Given the description of an element on the screen output the (x, y) to click on. 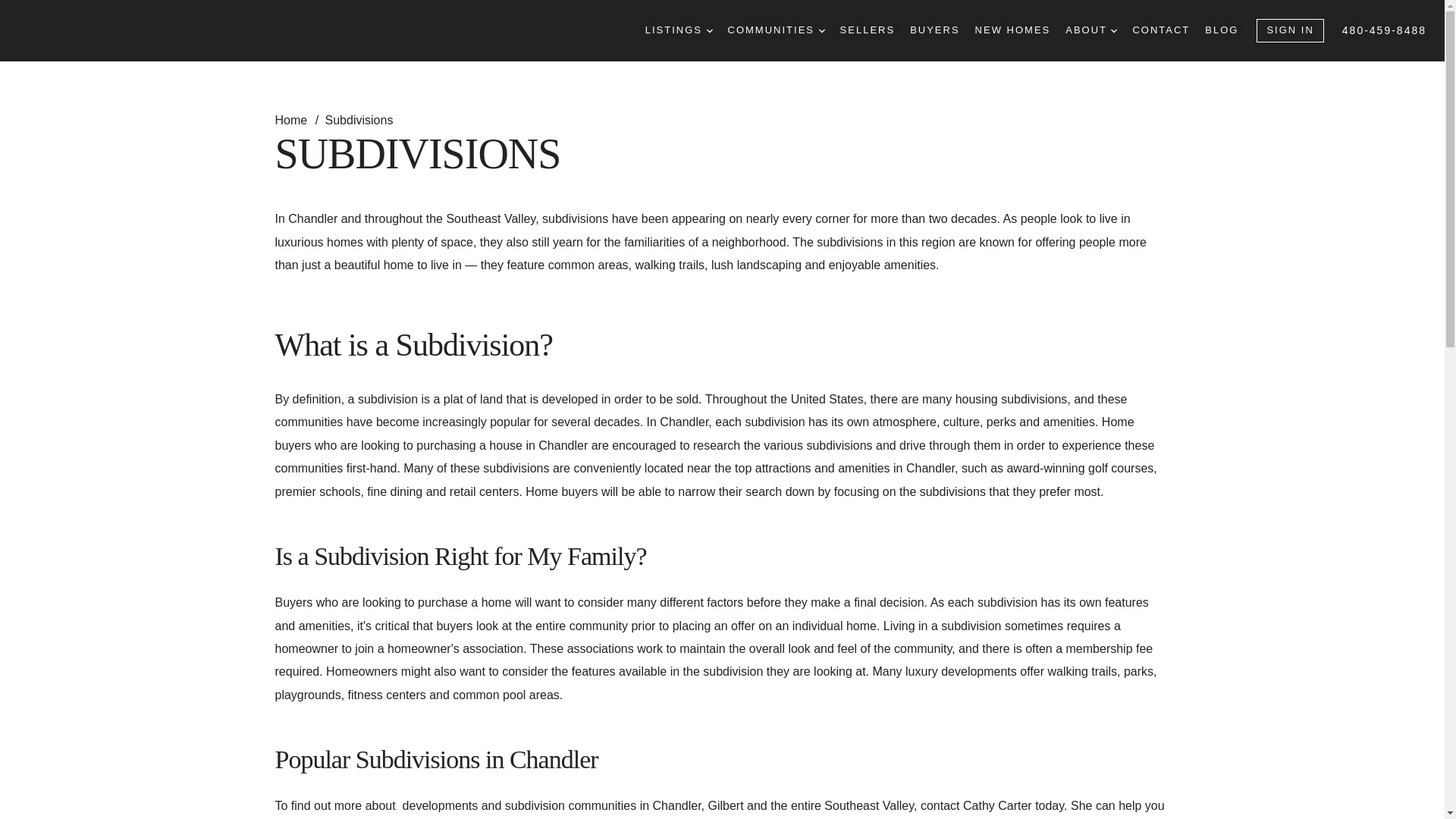
COMMUNITIES DROPDOWN ARROW (776, 30)
SELLERS (867, 30)
LISTINGS DROPDOWN ARROW (679, 30)
CONTACT (1160, 30)
ABOUT DROPDOWN ARROW (1090, 30)
BUYERS (934, 30)
NEW HOMES (1013, 30)
DROPDOWN ARROW (821, 30)
480-459-8488 (1384, 29)
BLOG (1222, 30)
Home (292, 119)
DROPDOWN ARROW (709, 30)
SIGN IN (1289, 30)
DROPDOWN ARROW (1113, 30)
Subdivisions (358, 119)
